Given the description of an element on the screen output the (x, y) to click on. 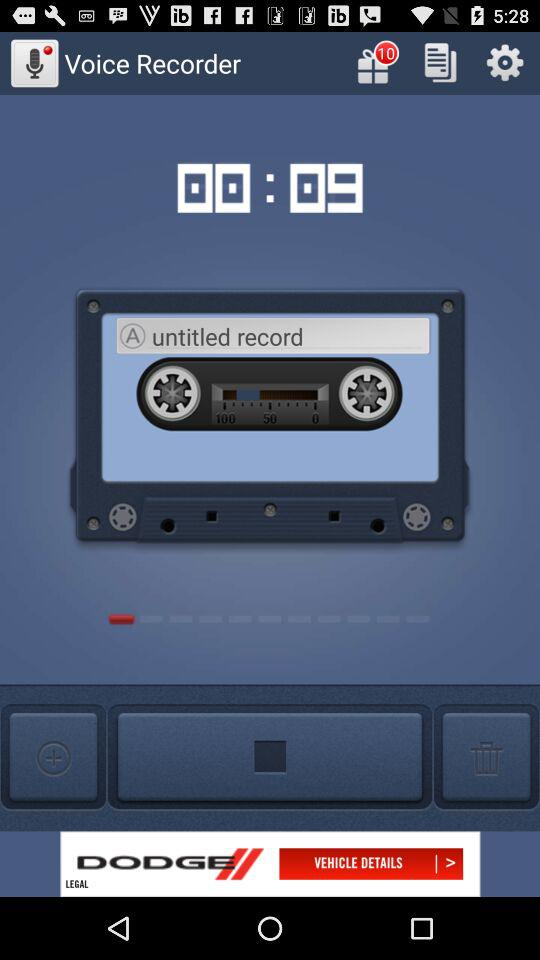
copy the text (440, 62)
